Given the description of an element on the screen output the (x, y) to click on. 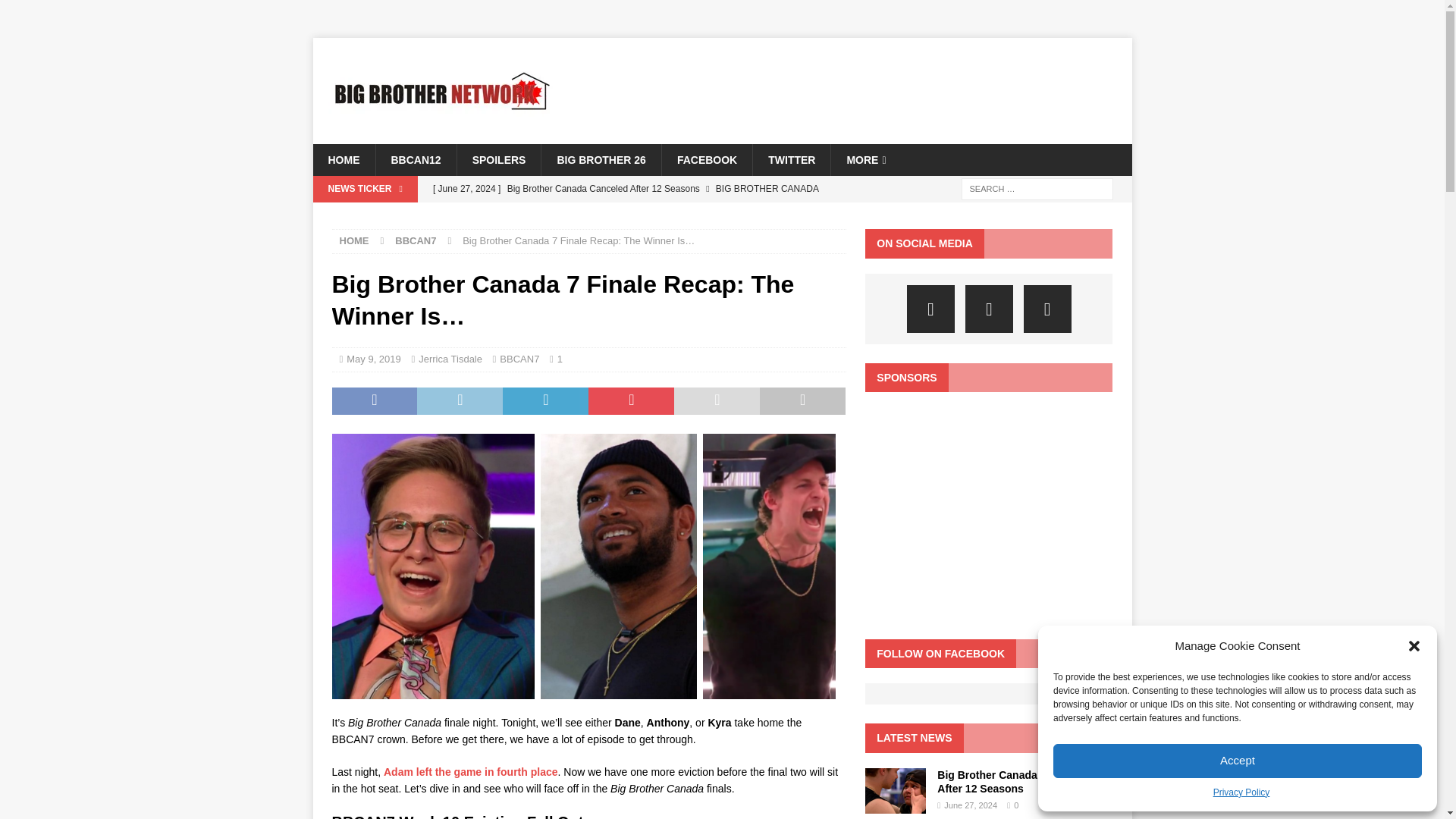
HOME (343, 160)
MORE (865, 160)
Accept (1237, 760)
SPOILERS (499, 160)
Big Brother Canada Not Returning For 2024-2025 TV Schedule (634, 214)
Privacy Policy (1240, 792)
FACEBOOK (706, 160)
Big Brother Canada Canceled After 12 Seasons (634, 188)
BIG BROTHER 26 (600, 160)
BBCAN12 (414, 160)
TWITTER (790, 160)
